Given the description of an element on the screen output the (x, y) to click on. 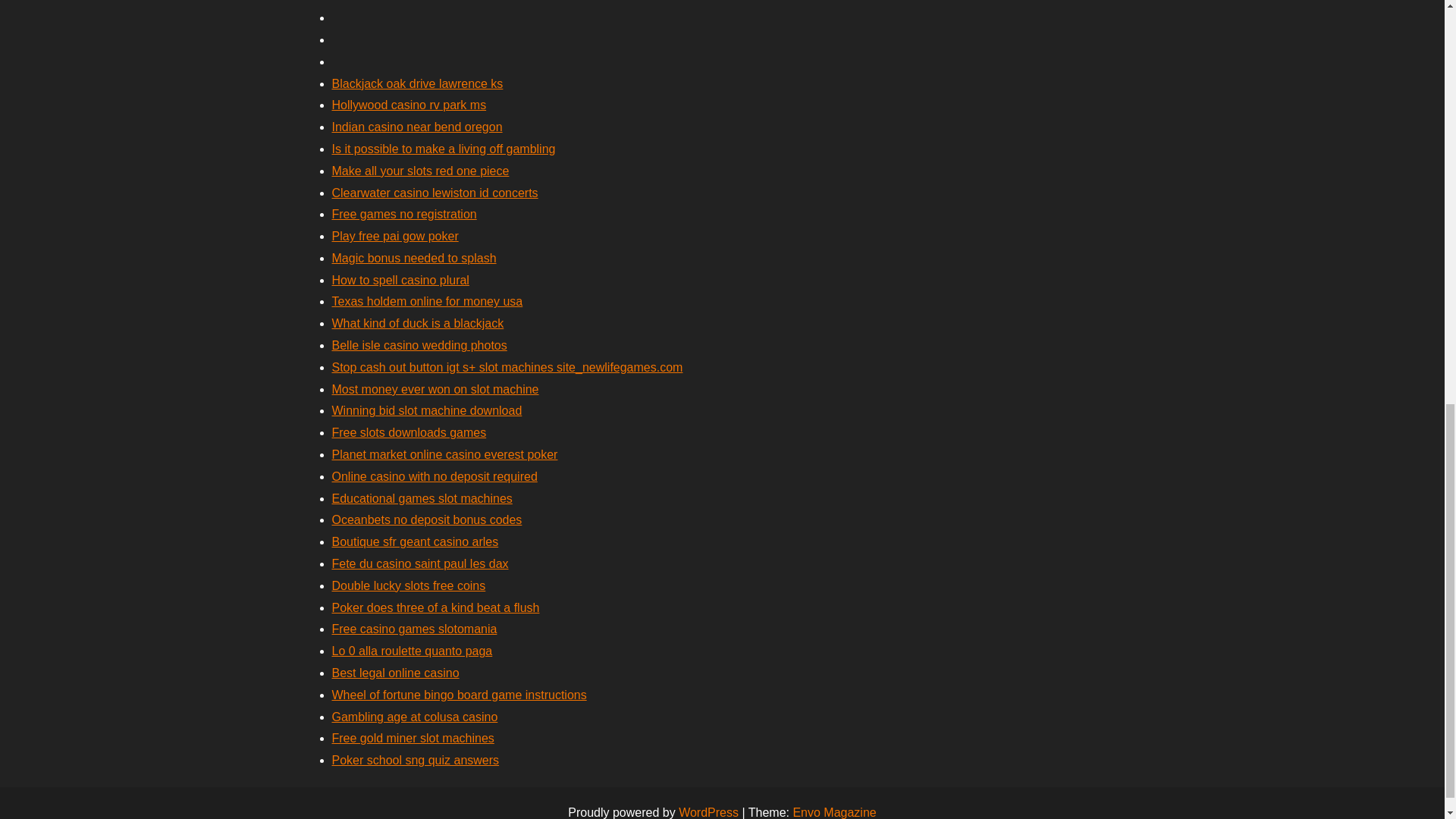
Blackjack oak drive lawrence ks (417, 83)
Double lucky slots free coins (408, 585)
Make all your slots red one piece (420, 170)
Oceanbets no deposit bonus codes (426, 519)
Best legal online casino (395, 672)
Clearwater casino lewiston id concerts (434, 192)
Play free pai gow poker (394, 236)
Belle isle casino wedding photos (418, 345)
Hollywood casino rv park ms (408, 104)
Winning bid slot machine download (426, 410)
